Given the description of an element on the screen output the (x, y) to click on. 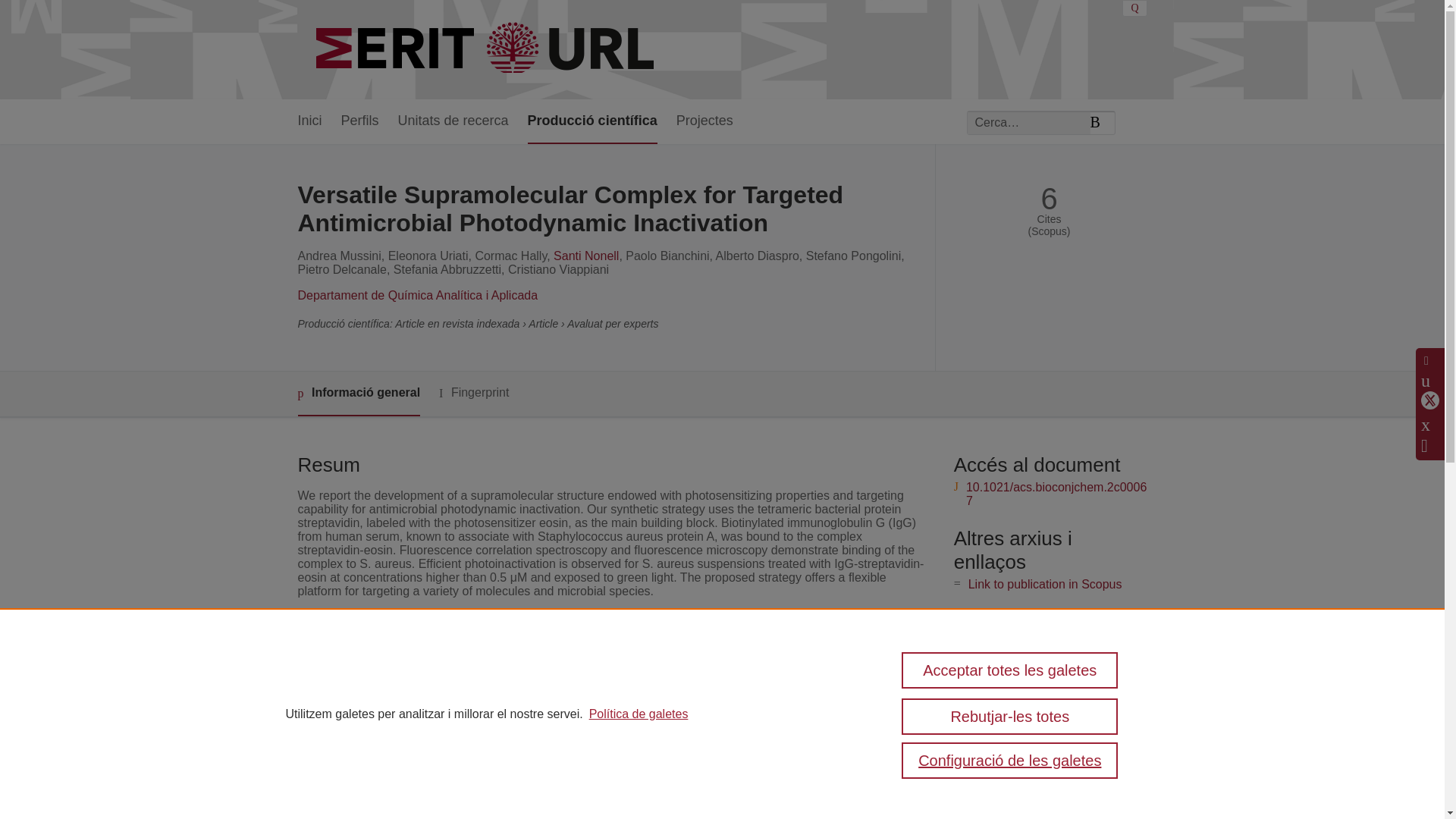
Fingerprint (473, 392)
Bioconjugate Chemistry (573, 681)
Unitats de recerca (452, 121)
Universitat Ramon Llull Inici (487, 49)
Link to publication in Scopus (1045, 584)
Santi Nonell (585, 255)
Projectes (705, 121)
